Given the description of an element on the screen output the (x, y) to click on. 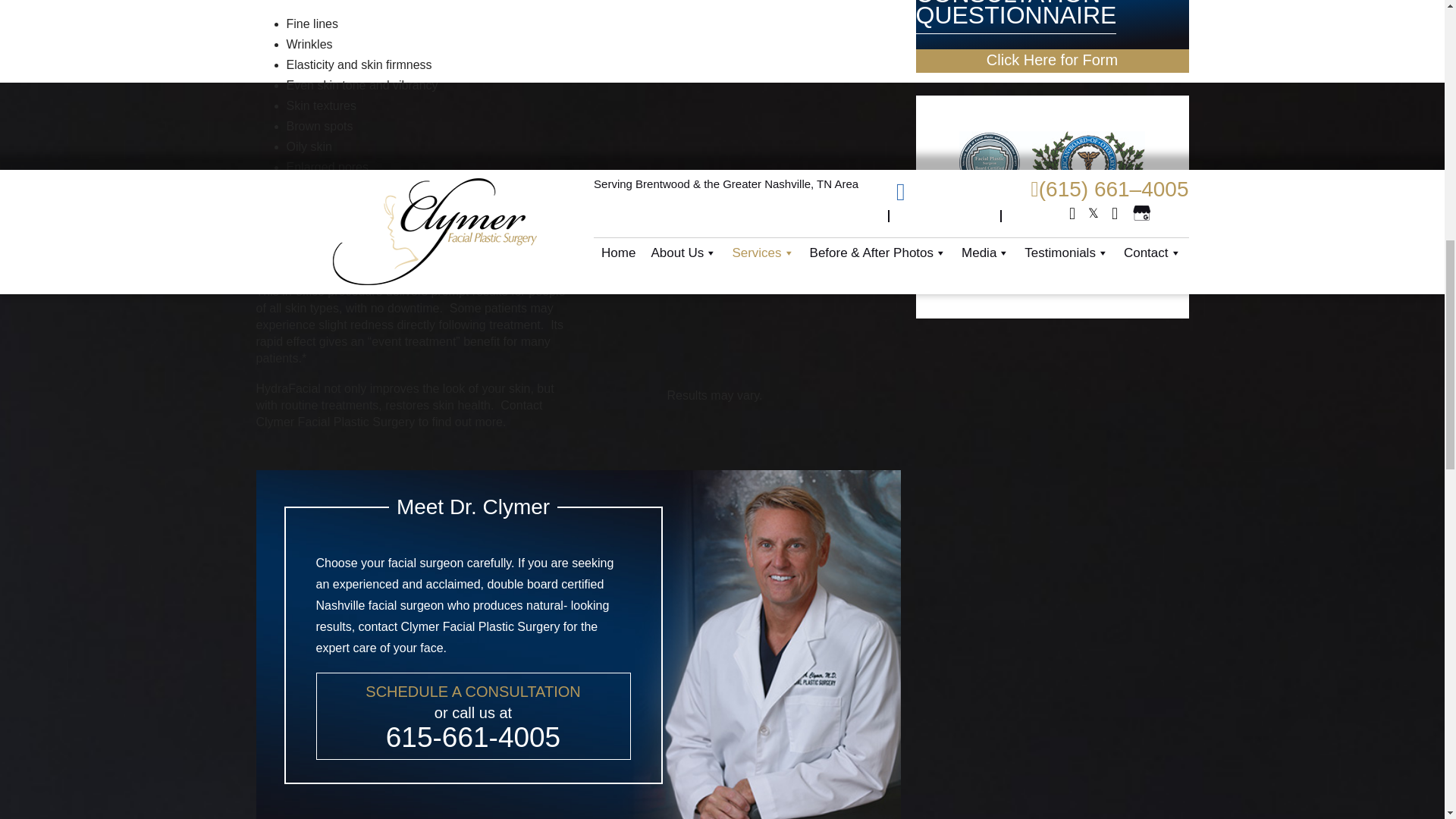
Click here to contact us (472, 716)
Consultation Questionnaire (1052, 60)
